Given the description of an element on the screen output the (x, y) to click on. 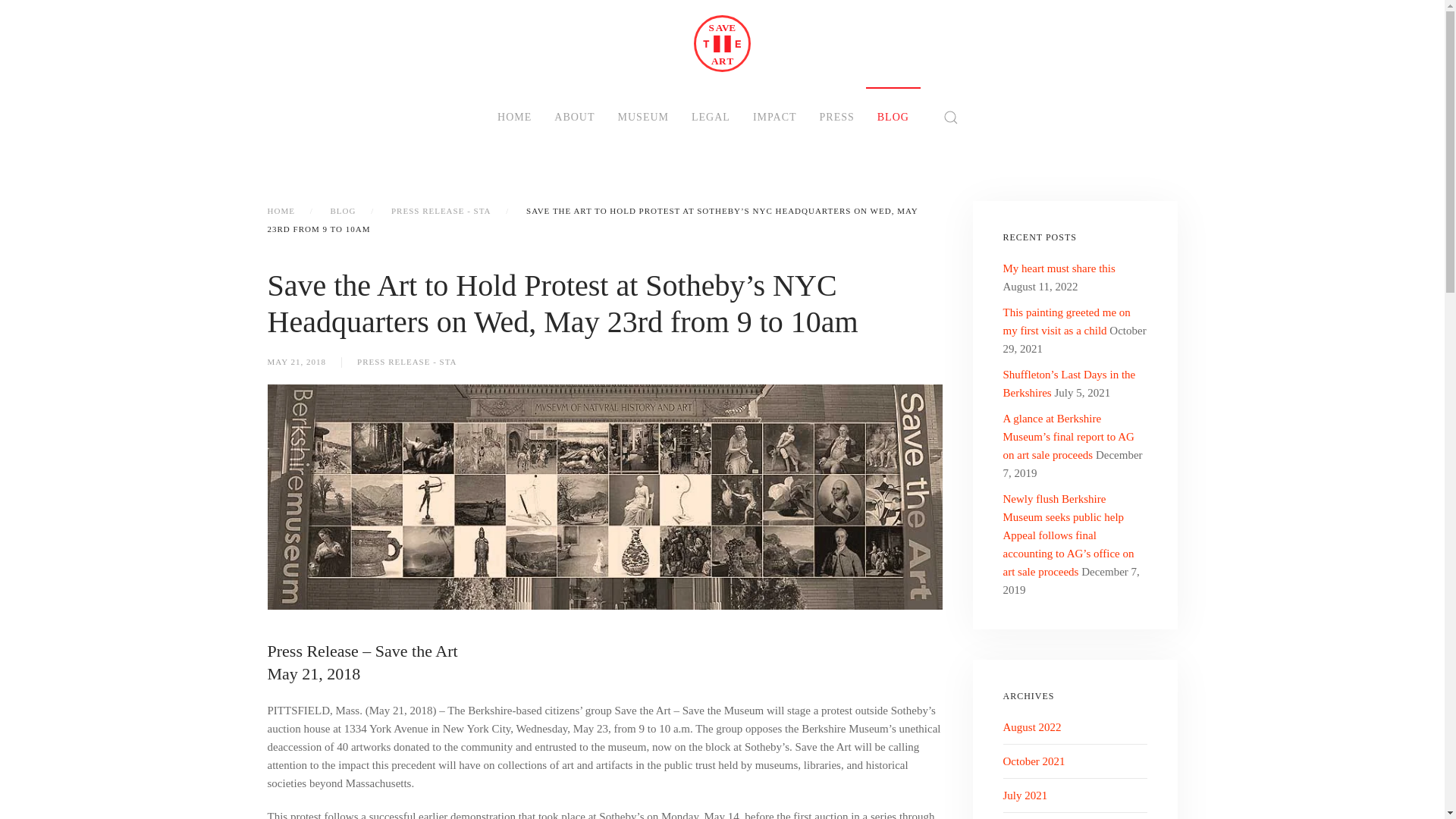
MUSEUM (643, 117)
IMPACT (774, 117)
HOME (514, 117)
PRESS (837, 117)
ABOUT (574, 117)
LEGAL (710, 117)
